Given the description of an element on the screen output the (x, y) to click on. 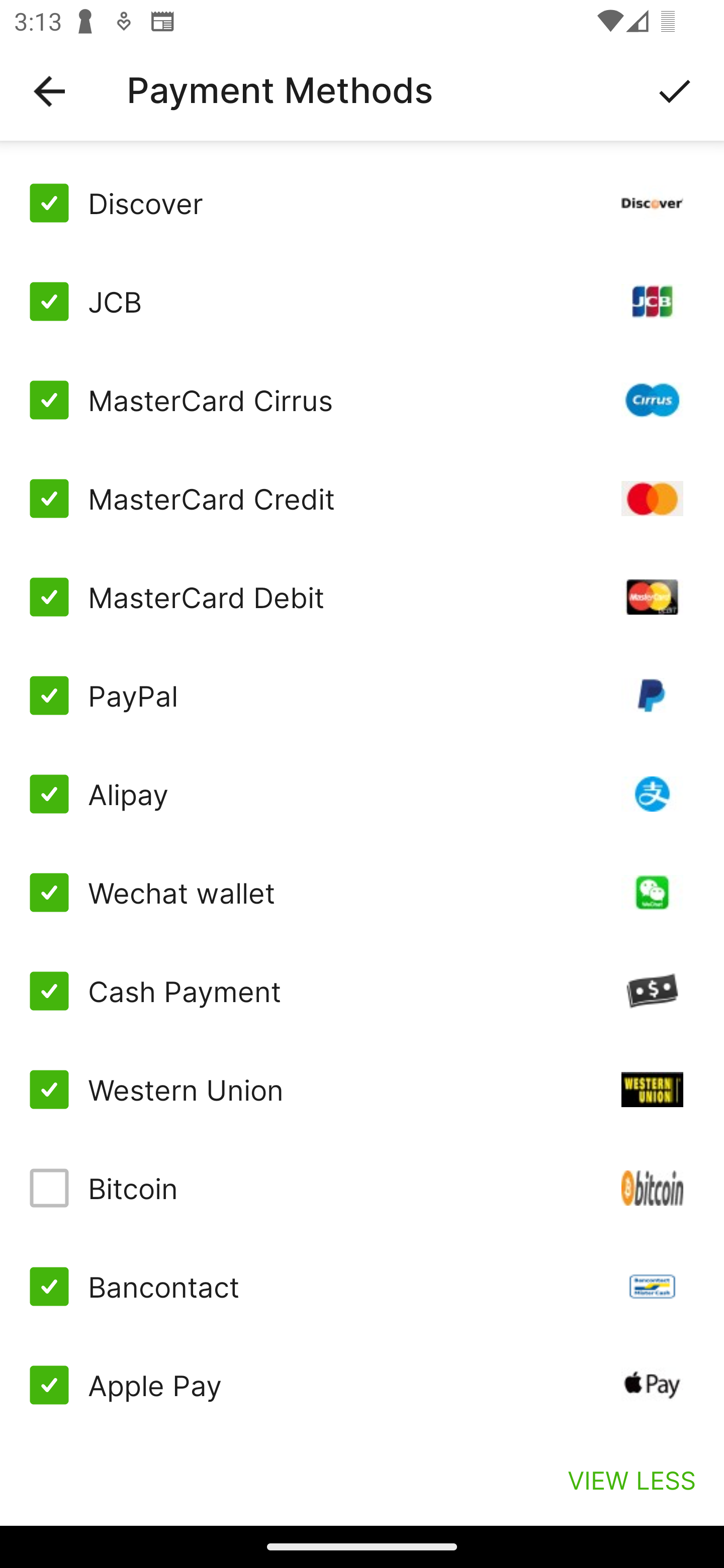
Discover (362, 202)
JCB (362, 301)
MasterCard Cirrus (362, 400)
MasterCard Credit (362, 498)
MasterCard Debit (362, 596)
PayPal (362, 695)
Alipay (362, 793)
Wechat wallet (362, 892)
Cash Payment (362, 990)
Western Union (362, 1088)
Bitcoin (362, 1187)
Bancontact (362, 1286)
Apple Pay (362, 1384)
VIEW LESS (631, 1479)
